Given the description of an element on the screen output the (x, y) to click on. 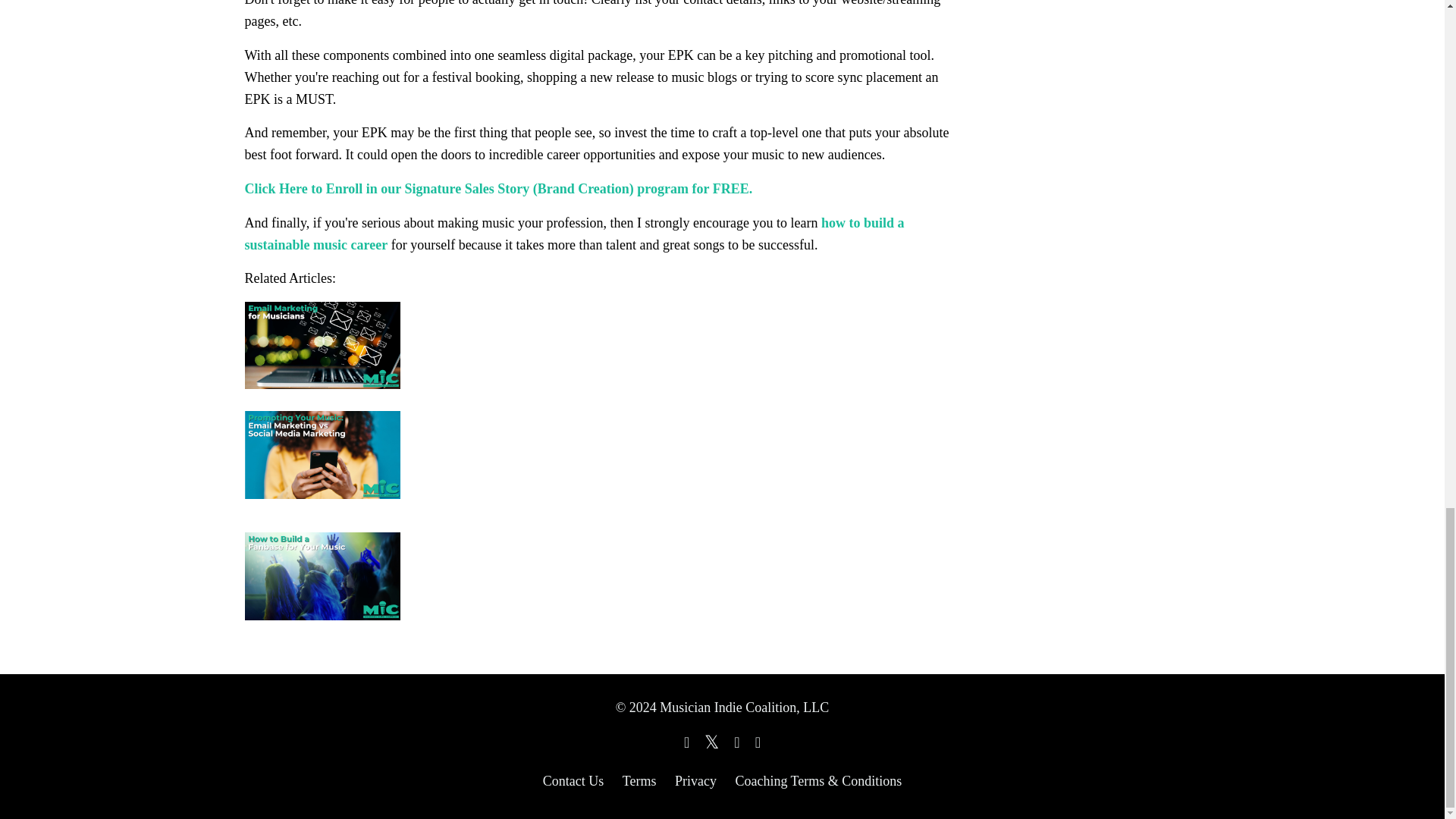
how to build a sustainable music career (574, 233)
Contact Us (573, 780)
Terms (639, 780)
Email Marketing for Musicians (599, 354)
Privacy (695, 780)
Promoting Your Music: Email vs Social Media Marketing (599, 473)
How to Build a Fanbase for Your Music (599, 575)
how to build a sustainable music career (574, 233)
